Given the description of an element on the screen output the (x, y) to click on. 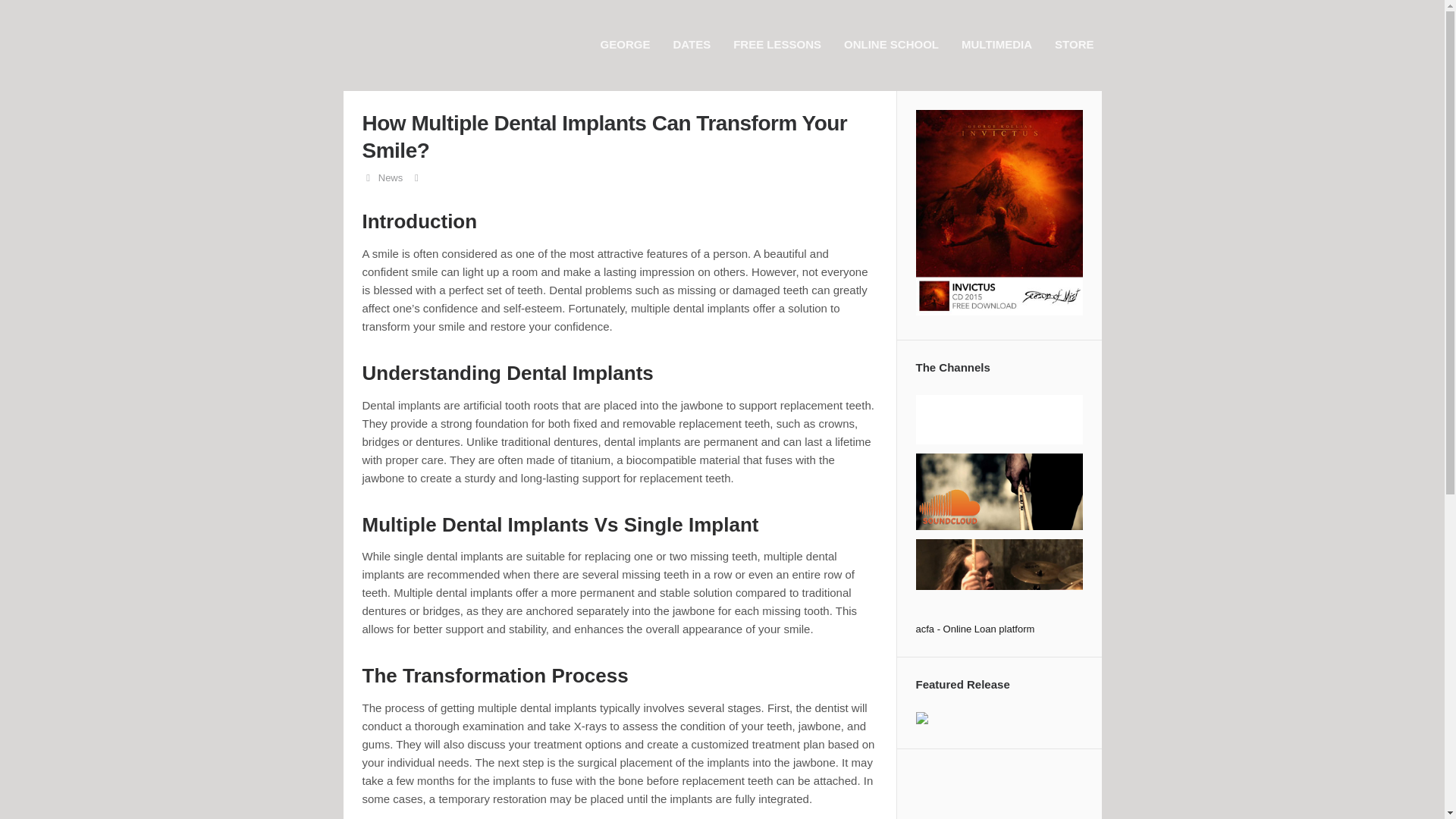
GEORGE (628, 44)
acfa - Online Loan platform (975, 628)
MULTIMEDIA (999, 44)
FREE LESSONS (780, 44)
ONLINE SCHOOL (895, 44)
STORE (1077, 44)
News (390, 177)
DATES (694, 44)
